Given the description of an element on the screen output the (x, y) to click on. 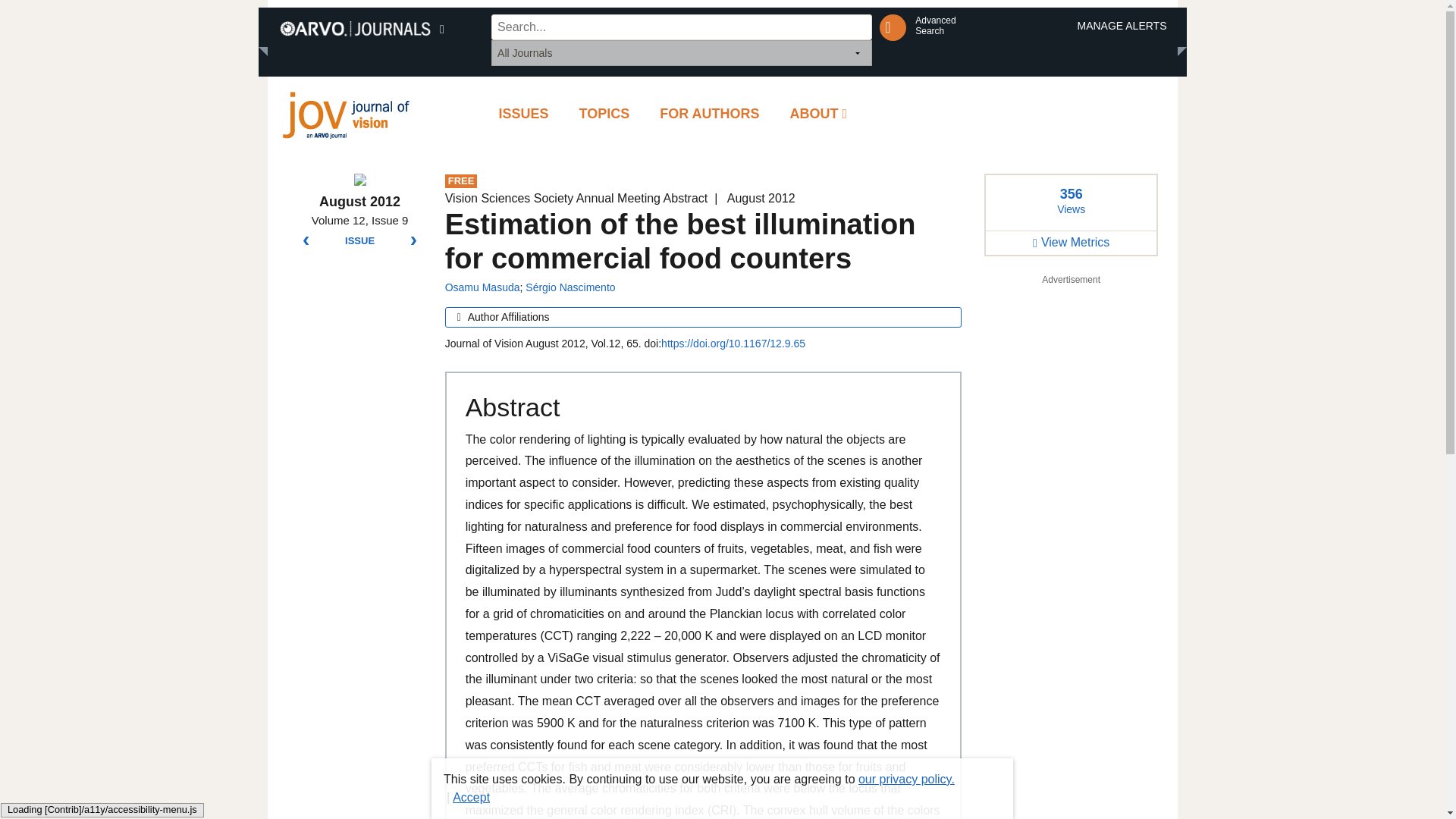
Osamu Masuda (482, 287)
FOR AUTHORS (709, 114)
ABOUT (818, 114)
TOPICS (604, 114)
ISSUE (359, 241)
ISSUES (935, 25)
